Given the description of an element on the screen output the (x, y) to click on. 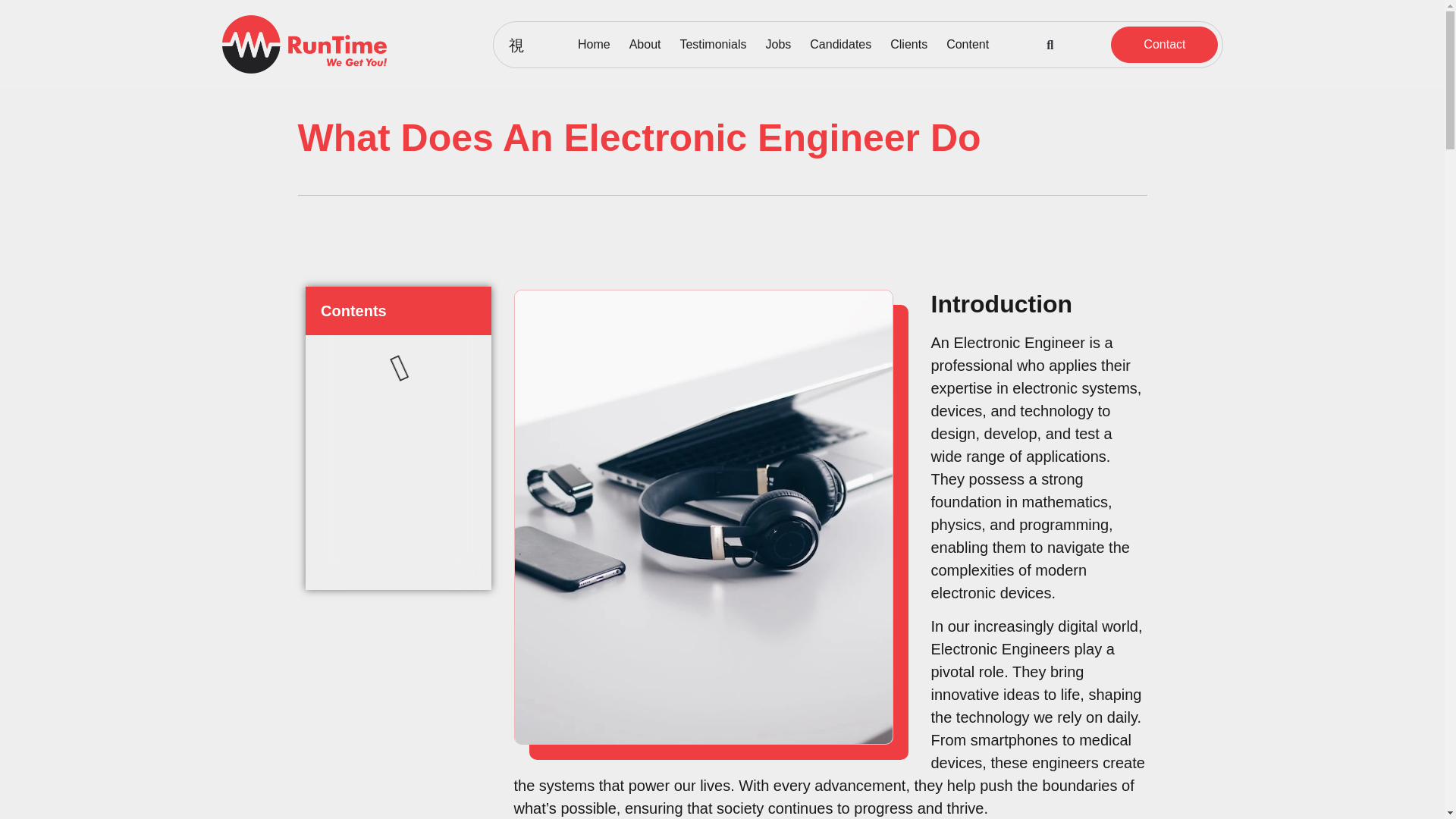
Testimonials (712, 44)
Content (967, 44)
Candidates (839, 44)
Clients (908, 44)
Jobs (778, 44)
Home (594, 44)
About (644, 44)
Contact (1163, 44)
